Given the description of an element on the screen output the (x, y) to click on. 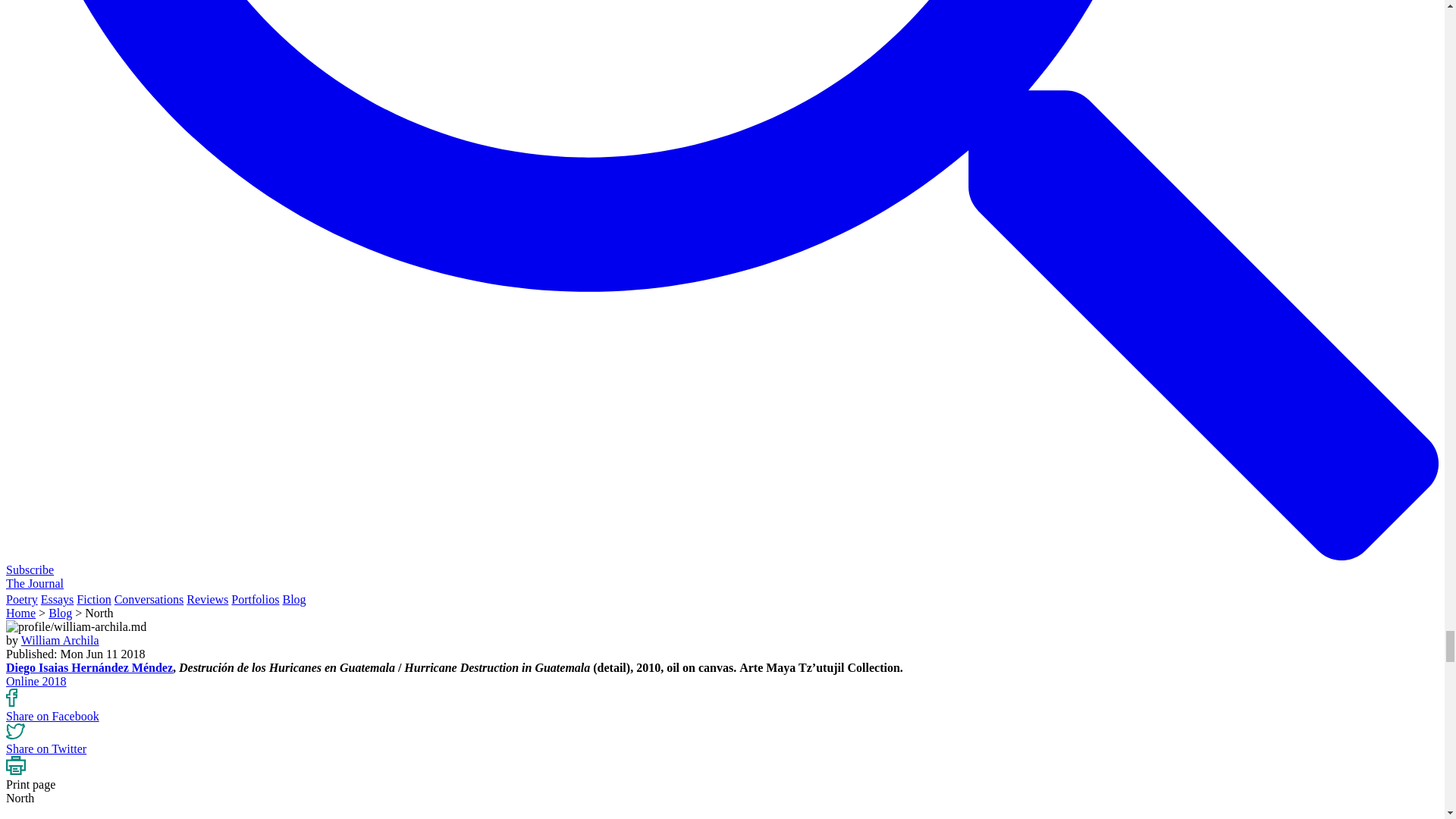
Conversations (149, 599)
The Journal (34, 583)
Essays (57, 599)
Online 2018 (35, 680)
Blog (293, 599)
Home (19, 612)
Fiction (93, 599)
William Archila (60, 640)
Page 1Created with Sketch. (15, 764)
Page 1Created with Sketch. (14, 731)
Portfolios (255, 599)
Poetry (21, 599)
Subscribe (29, 569)
Reviews (207, 599)
Blog (59, 612)
